Given the description of an element on the screen output the (x, y) to click on. 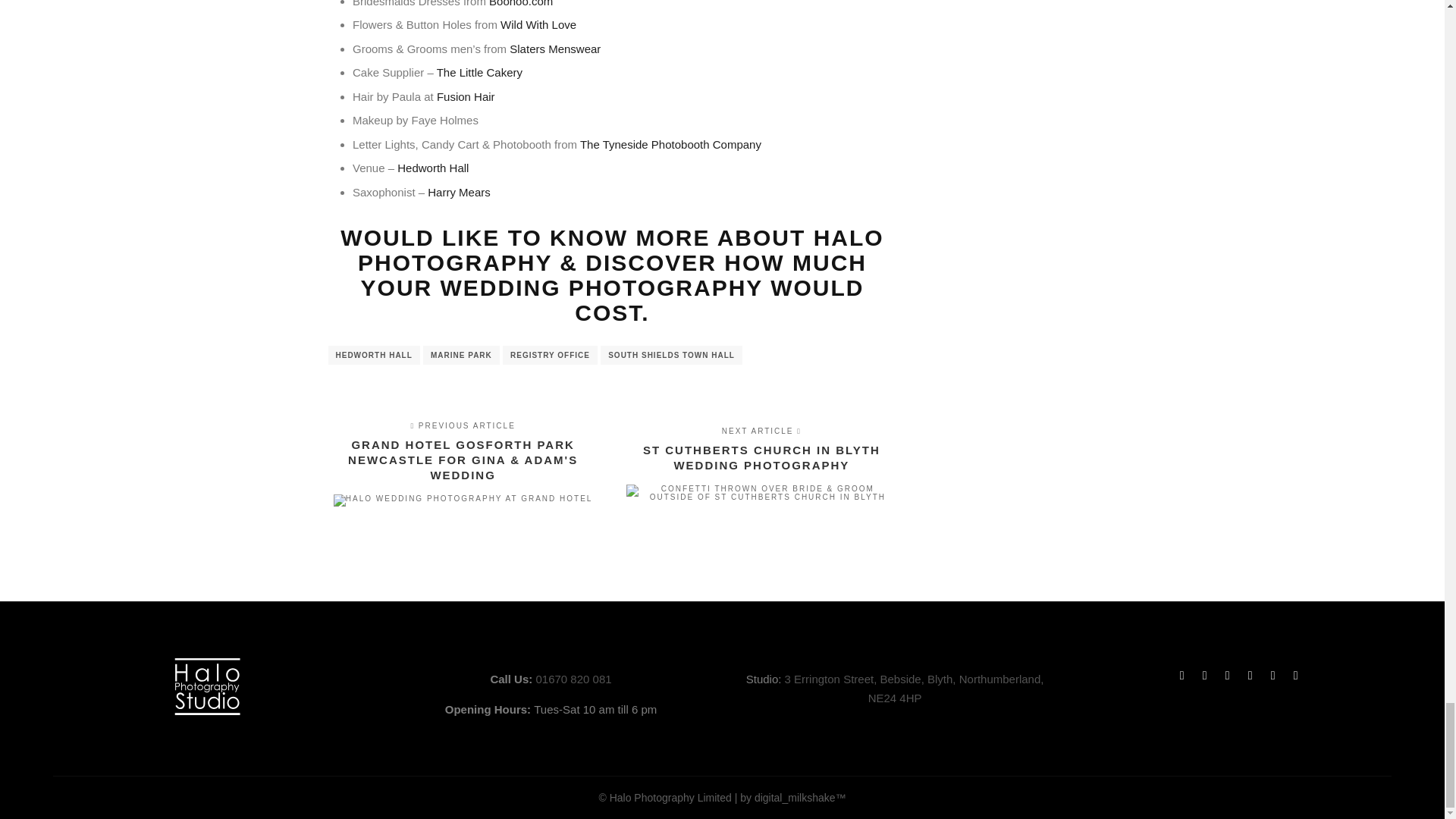
Wild With Love (538, 24)
The Little Cakery (479, 72)
Fusion Hair (465, 96)
Hedworth Hall (432, 167)
Slaters Menswear (554, 48)
Boohoo.com (521, 3)
Facebook (1182, 675)
Harry Mears (459, 192)
The Tyneside Photobooth Company (668, 144)
